Given the description of an element on the screen output the (x, y) to click on. 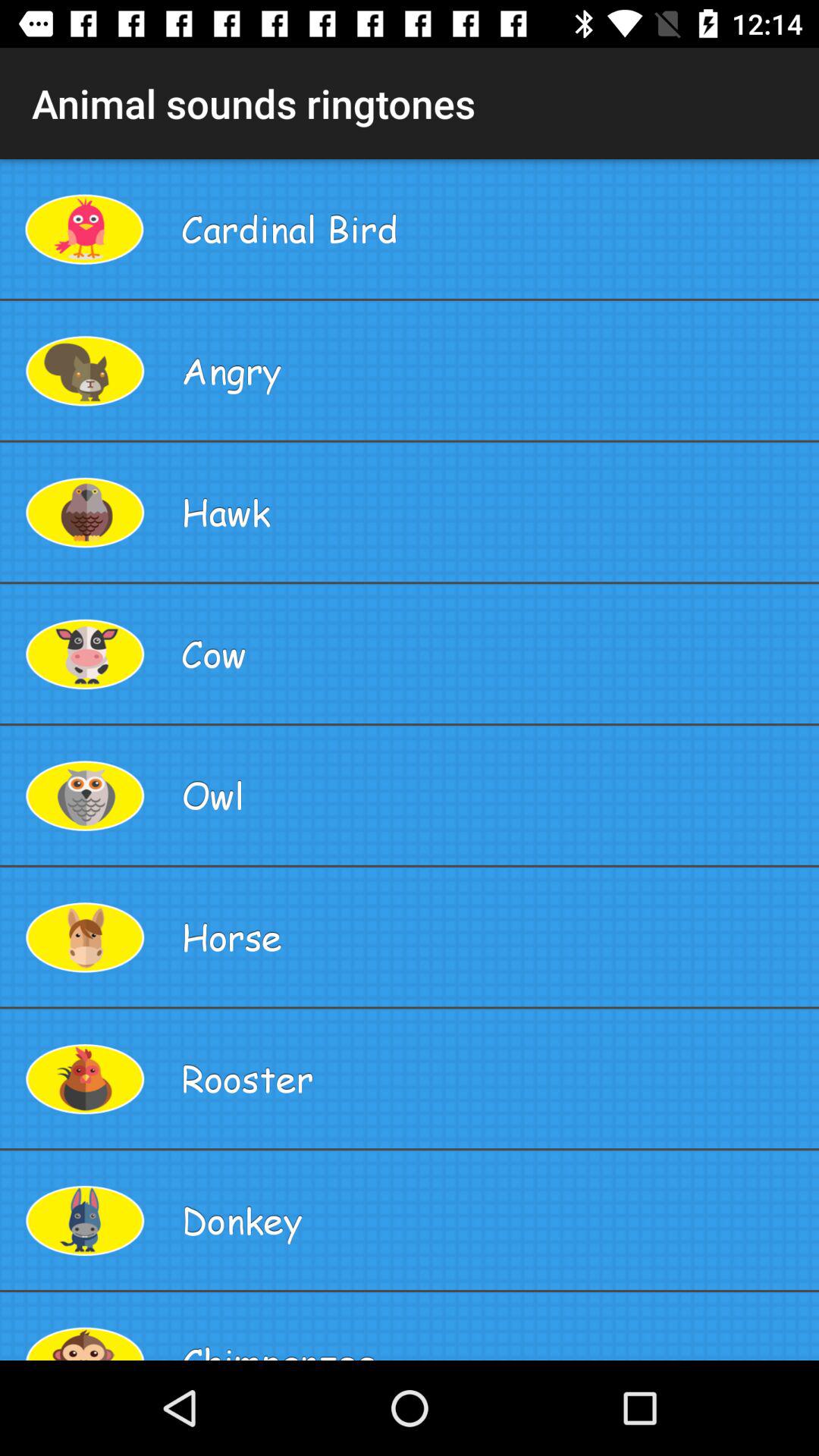
launch horse app (494, 936)
